Given the description of an element on the screen output the (x, y) to click on. 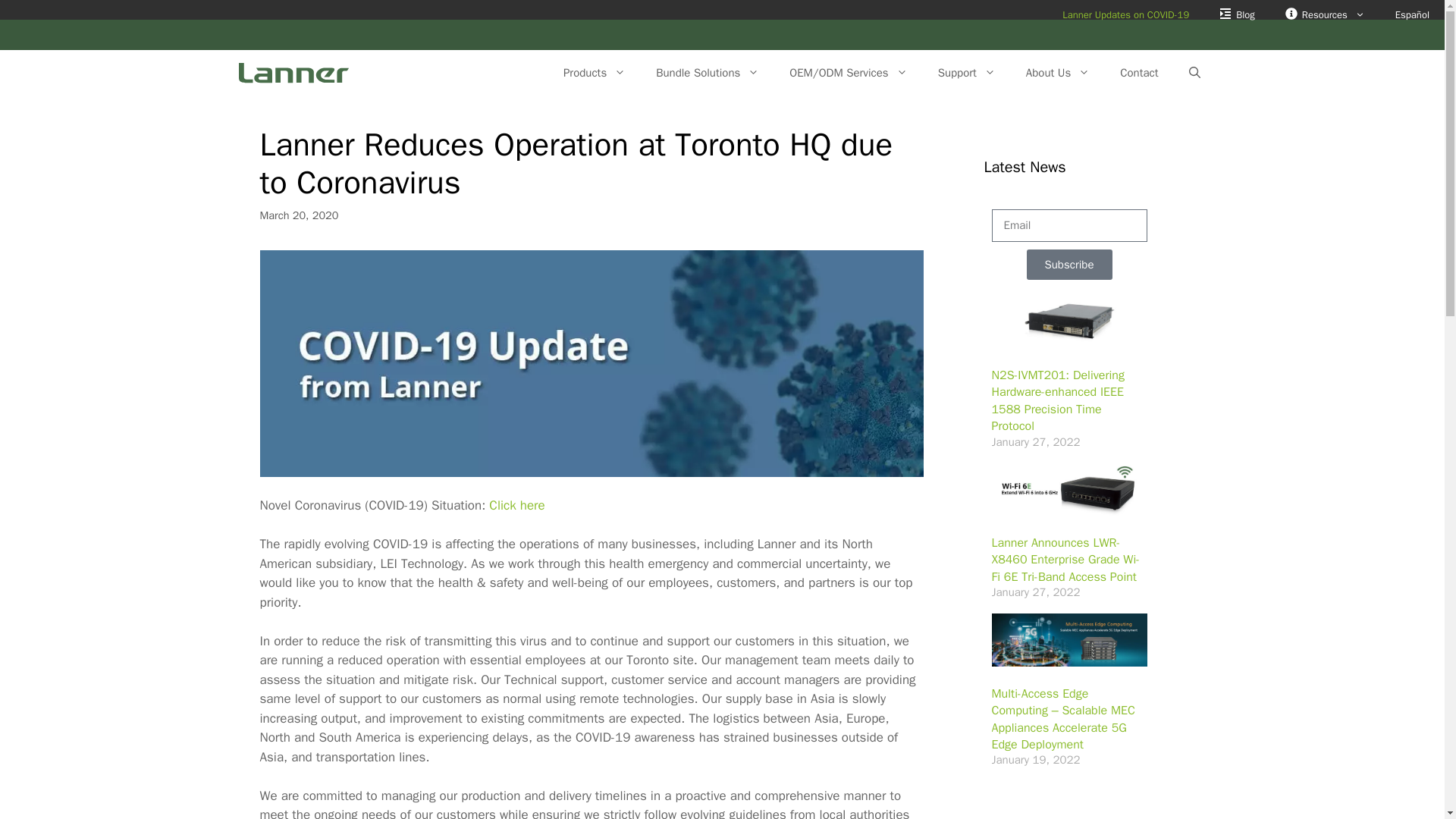
Resources (1324, 15)
Lanner Updates on COVID-19 (1125, 15)
Bundle Solutions (707, 72)
Products (594, 72)
Blog (1236, 15)
Lanner (283, 72)
